Given the description of an element on the screen output the (x, y) to click on. 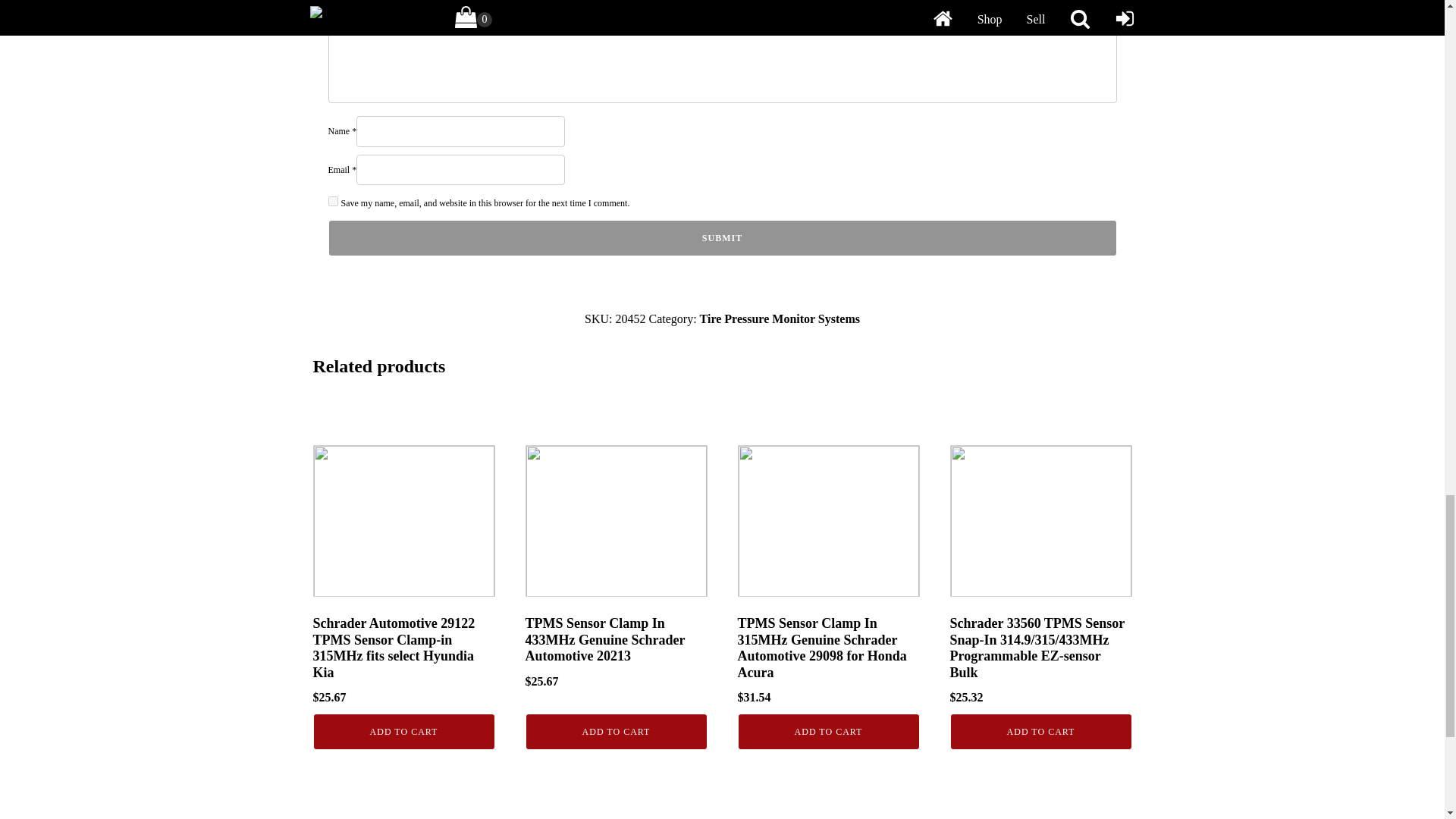
yes (332, 201)
ADD TO CART (404, 731)
Submit (721, 238)
ADD TO CART (1040, 731)
ADD TO CART (615, 731)
Tire Pressure Monitor Systems (780, 318)
Submit (721, 238)
ADD TO CART (827, 731)
